Given the description of an element on the screen output the (x, y) to click on. 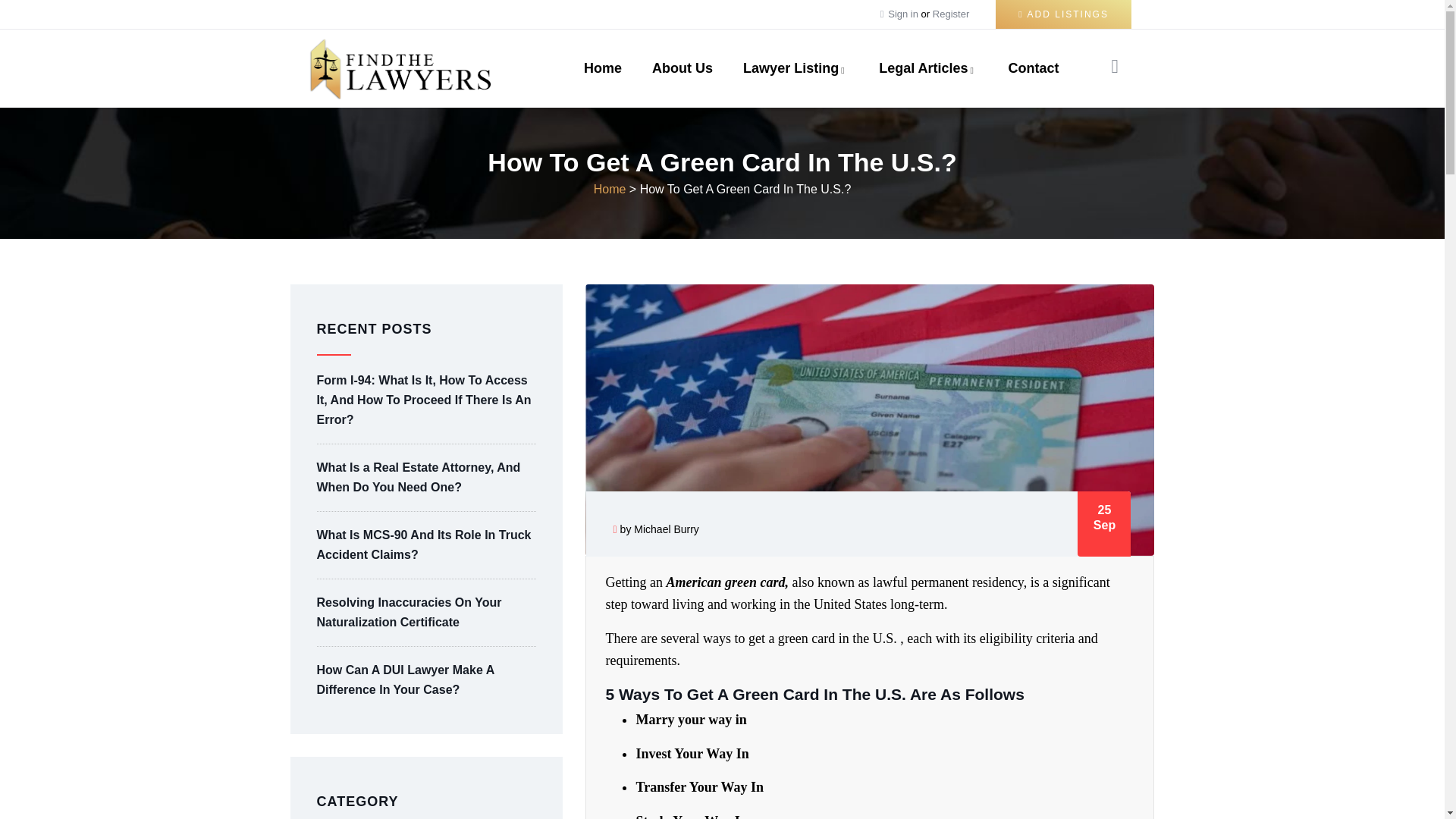
Legal Articles (927, 68)
About Us (682, 68)
Home (603, 68)
Home (400, 67)
Go to Home. (610, 188)
Go to How To Get A Green Card In The U.S.?. (745, 188)
Sign in (904, 13)
ADD LISTINGS (1063, 14)
Lawyer Listing (795, 68)
Register (951, 13)
